Given the description of an element on the screen output the (x, y) to click on. 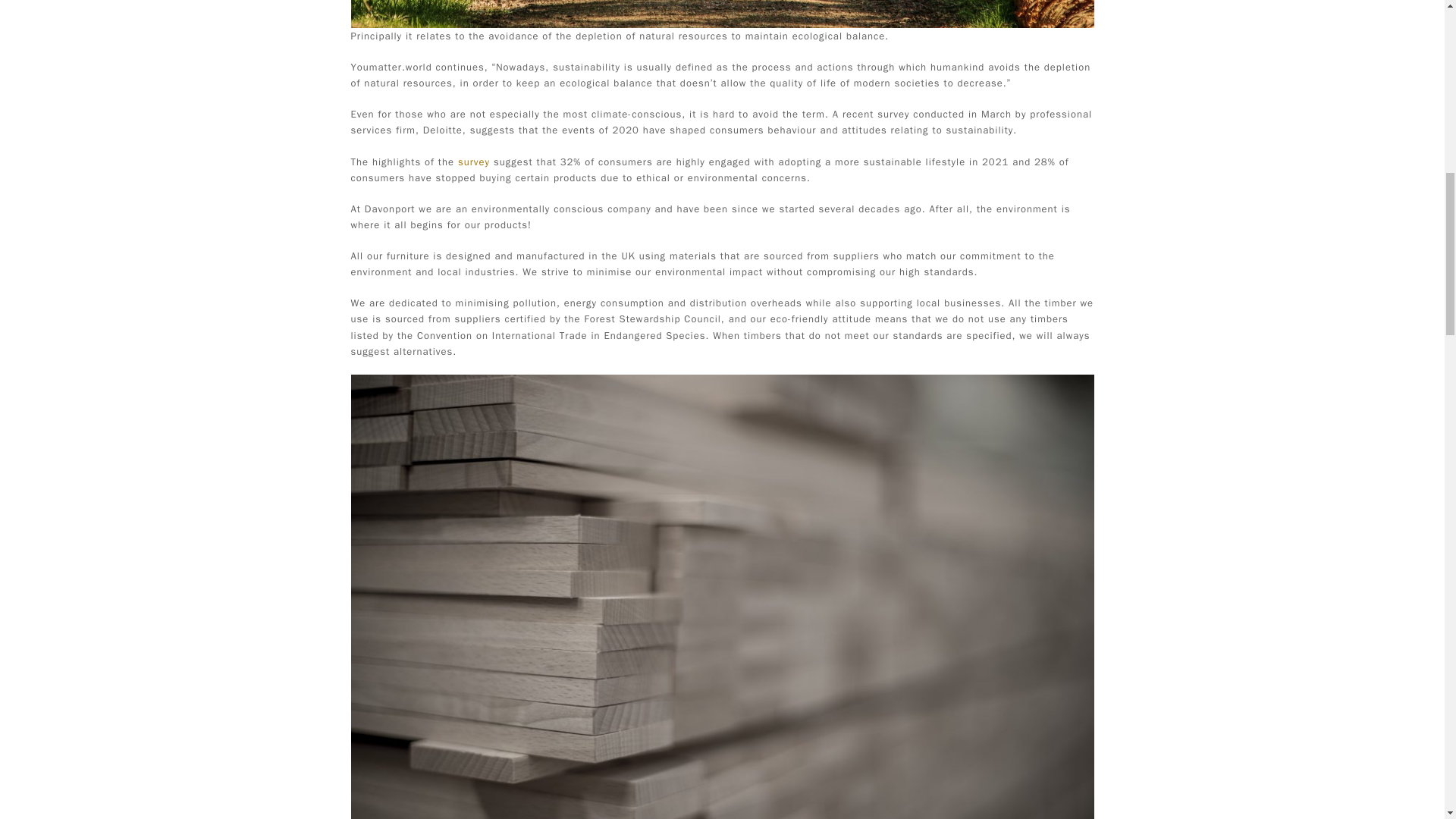
survey (473, 161)
